Given the description of an element on the screen output the (x, y) to click on. 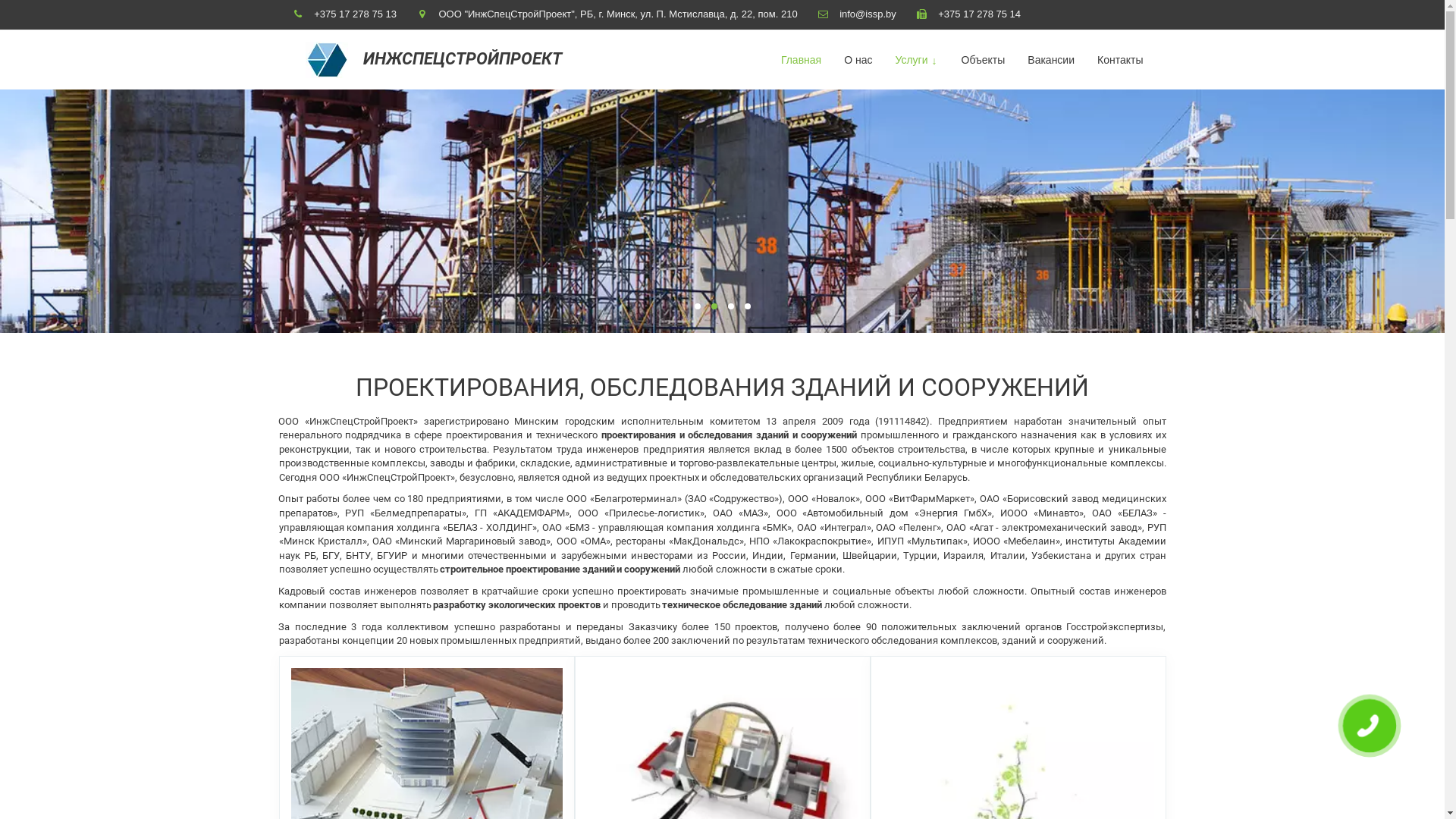
+375 17 278 75 14 Element type: text (979, 13)
info@issp.by Element type: text (867, 13)
+375 17 278 75 13 Element type: text (354, 13)
